Given the description of an element on the screen output the (x, y) to click on. 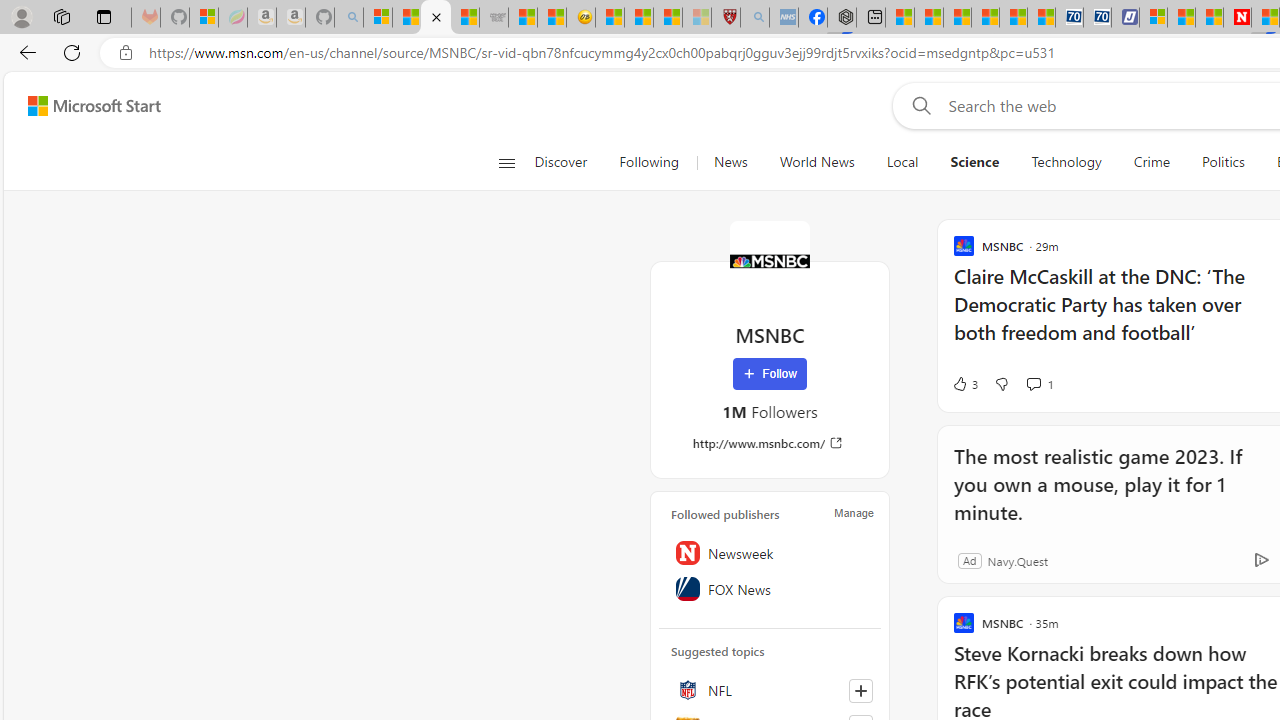
View comments 1 Comment (1039, 384)
Technology (1066, 162)
World News (816, 162)
Recipes - MSN (610, 17)
View comments 1 Comment (1033, 383)
Local (902, 162)
Dislike (1001, 384)
Combat Siege (494, 17)
Ad Choice (1261, 560)
